Given the description of an element on the screen output the (x, y) to click on. 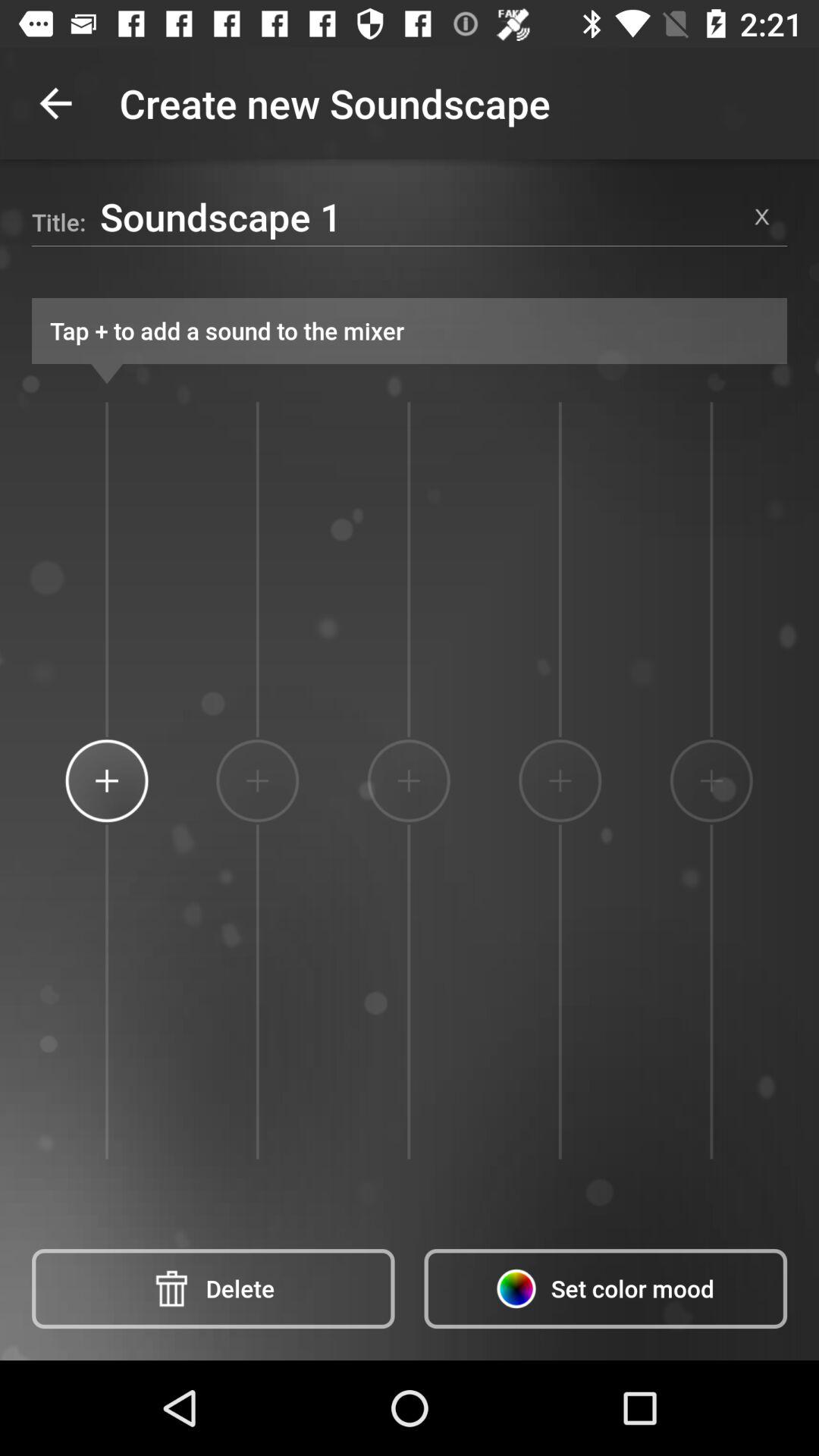
tap the item to the right of the title: item (418, 216)
